Given the description of an element on the screen output the (x, y) to click on. 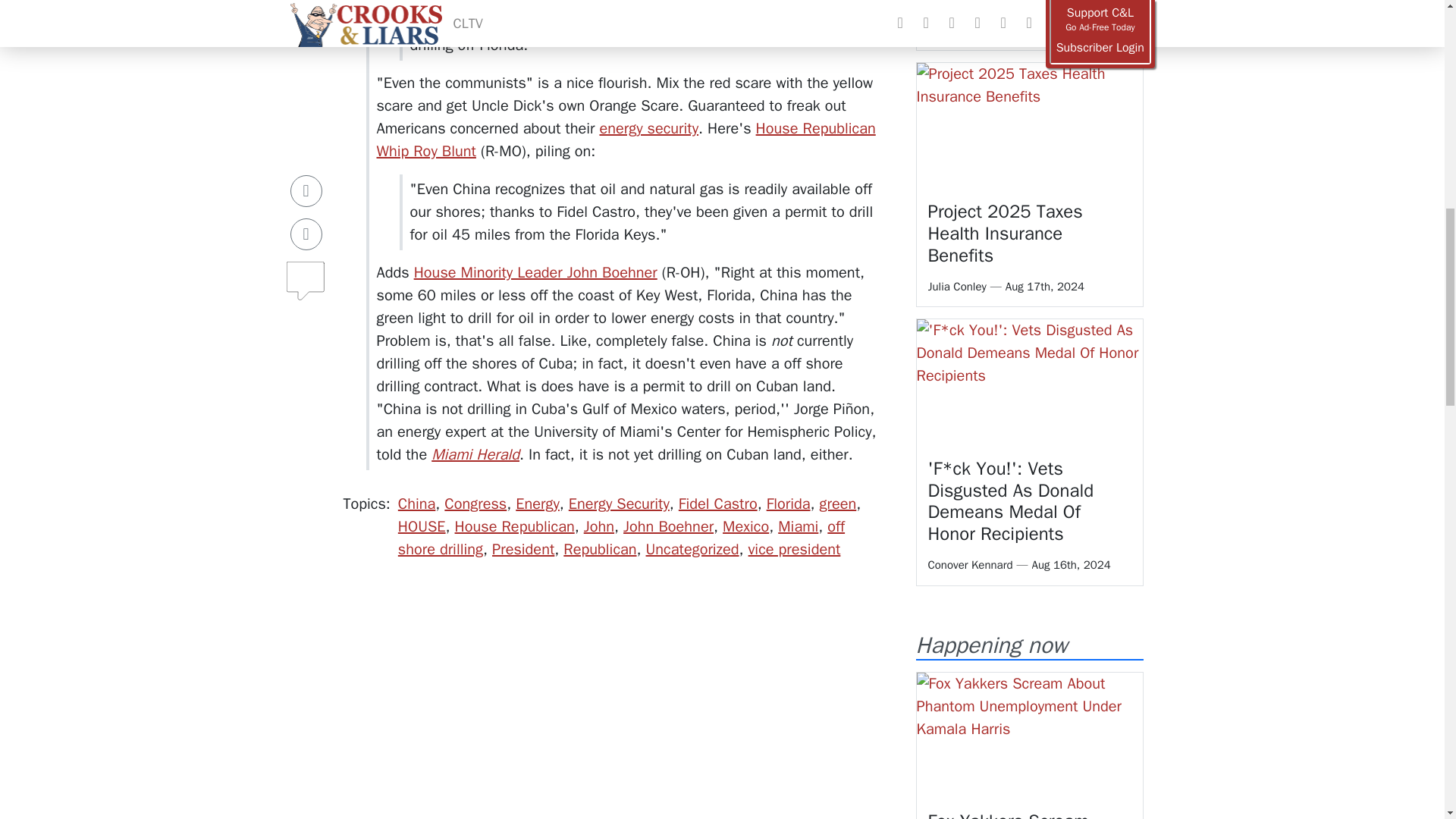
China (416, 503)
energy security (648, 128)
House Republican Whip Roy Blunt (625, 139)
House Minority Leader John Boehner (535, 271)
Congress (475, 503)
Miami Herald (474, 454)
